Given the description of an element on the screen output the (x, y) to click on. 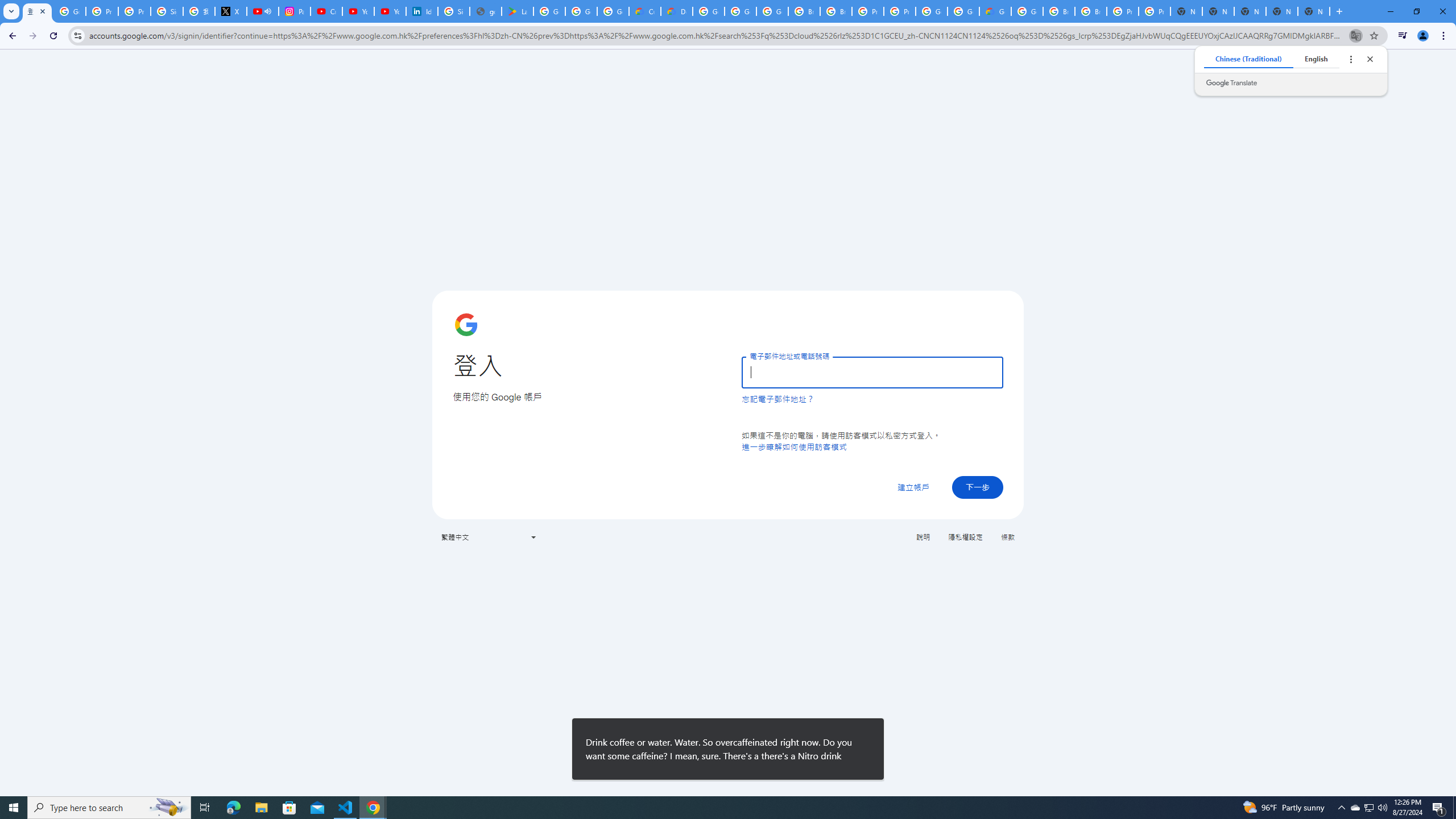
Browse Chrome as a guest - Computer - Google Chrome Help (804, 11)
